Given the description of an element on the screen output the (x, y) to click on. 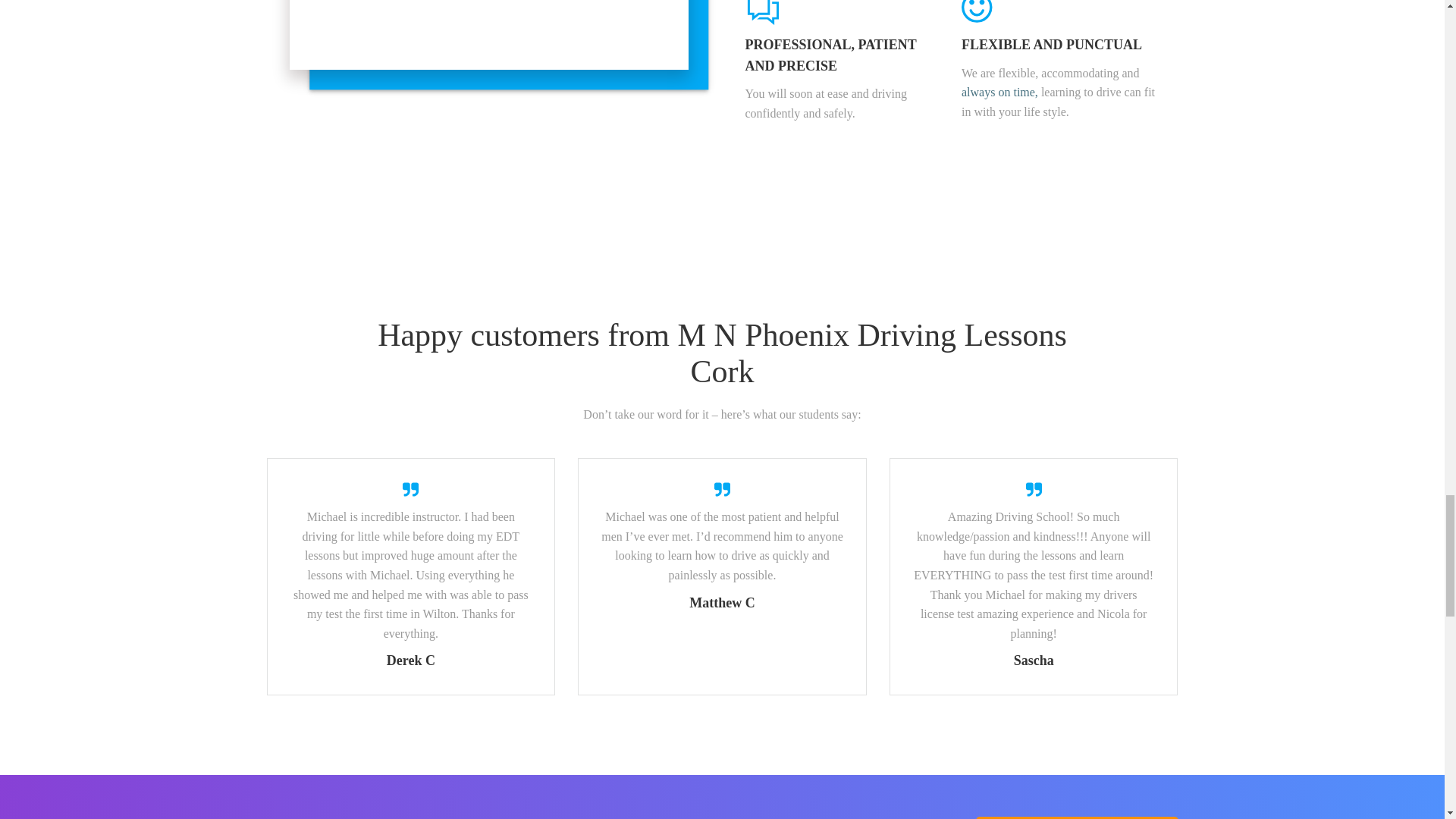
CONTACT US FOR OFFERS (1076, 817)
